Given the description of an element on the screen output the (x, y) to click on. 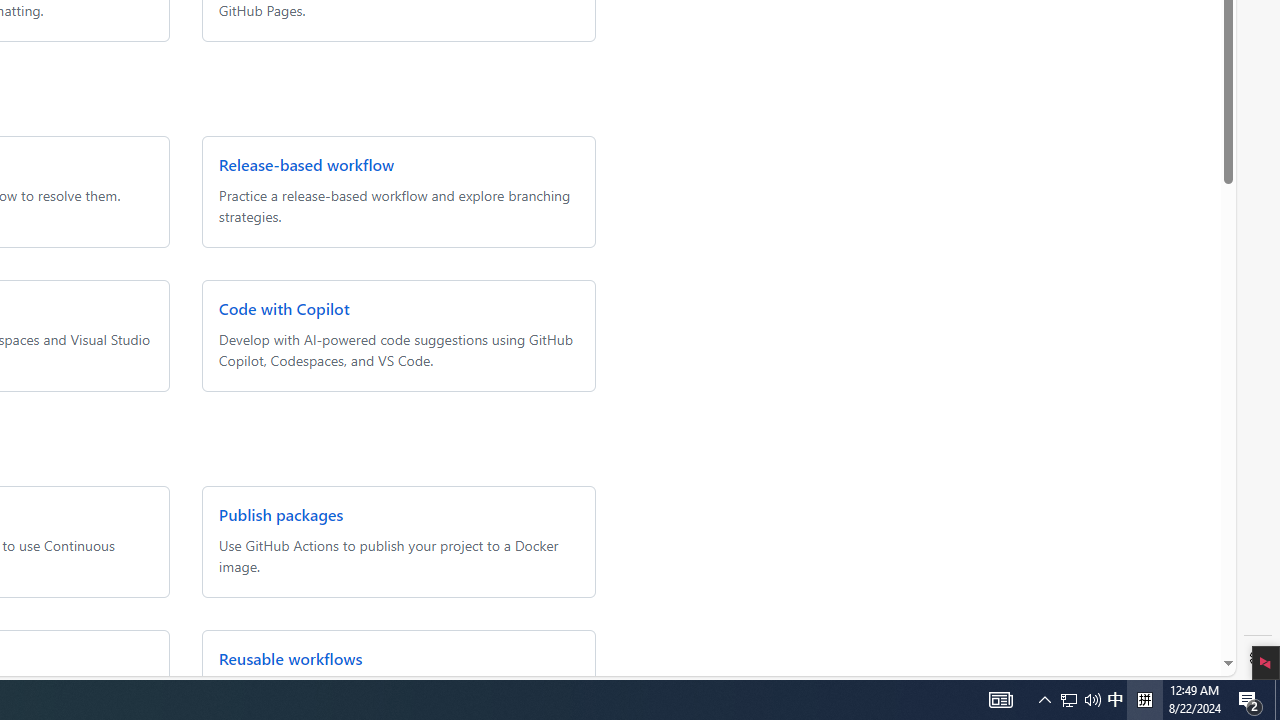
Release-based workflow (306, 164)
Code with Copilot (283, 308)
Reusable workflows (290, 658)
Publish packages (280, 513)
